Given the description of an element on the screen output the (x, y) to click on. 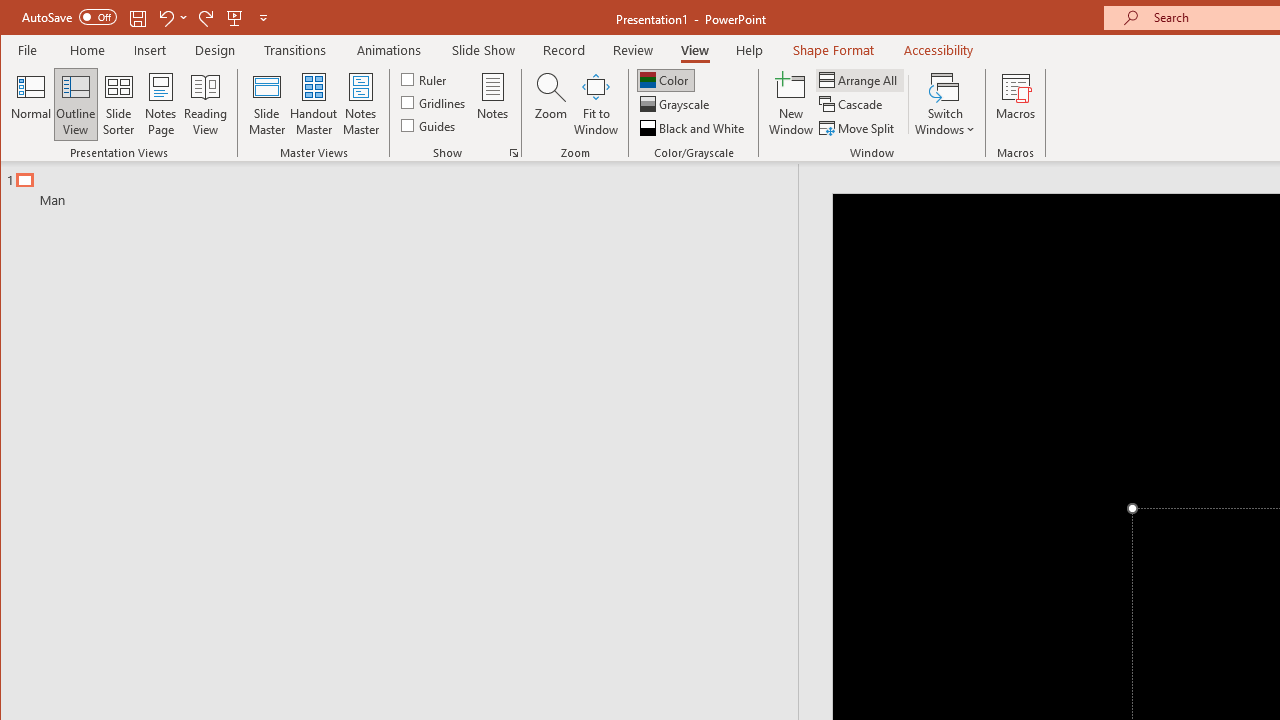
Outline View (75, 104)
